Given the description of an element on the screen output the (x, y) to click on. 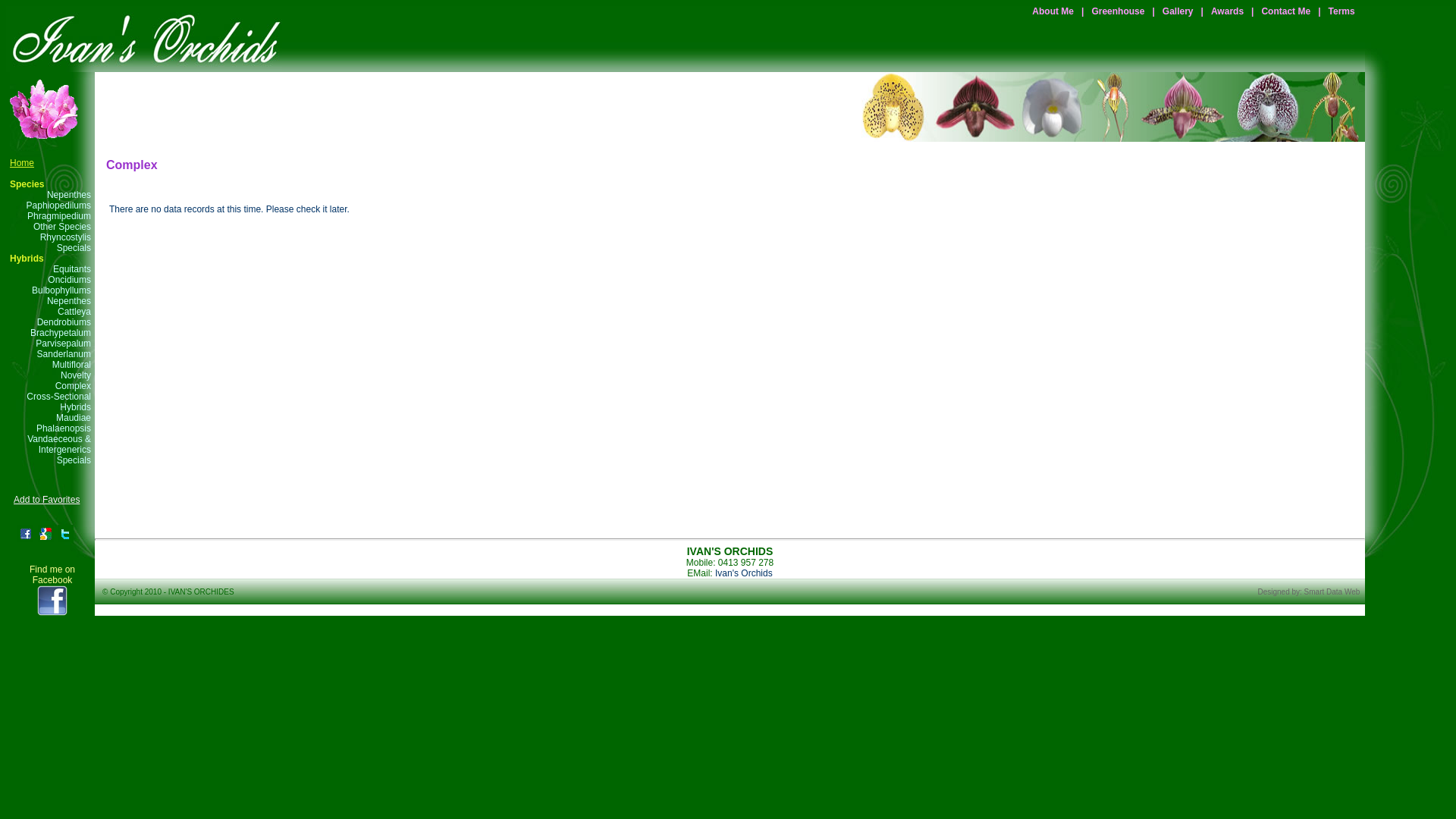
Sanderlanum Element type: text (64, 353)
Nepenthes Element type: text (69, 194)
IVAN'S ORCHIDS Element type: hover (144, 39)
Specials Element type: text (73, 460)
Home Element type: text (21, 162)
Equitants Oncidiums Element type: text (69, 274)
Send to Google Element type: hover (45, 538)
Find us on facebook Element type: hover (52, 600)
Greenhouse Element type: text (1117, 11)
Awards Element type: text (1227, 11)
Contact Me Element type: text (1285, 11)
Cross-Sectional Hybrids Element type: text (58, 401)
Novelty Element type: text (75, 375)
Dendrobiums Element type: text (64, 321)
Other Species Element type: text (62, 226)
Add to Favorites Element type: text (46, 499)
Multifloral Element type: text (71, 364)
Designed by: Smart Data Web Element type: text (1308, 591)
Gallery Element type: text (1177, 11)
Parvisepalum Element type: text (63, 343)
Send to Facebook Element type: hover (25, 533)
Maudiae Element type: text (73, 417)
Phragmipedium Element type: text (59, 215)
Brachypetalum Element type: text (60, 332)
Send to Twitter Element type: hover (65, 538)
Phalaenopsis Element type: text (63, 428)
Complex Element type: text (73, 385)
Vandaeceous & Intergenerics Element type: text (59, 444)
Send to Facebook Element type: hover (25, 538)
Follow me on facebook Element type: hover (52, 612)
Bulbophyllums Element type: text (61, 290)
Ivan's Orchids Element type: text (743, 572)
Paphiopedilums Element type: text (58, 205)
Rhyncostylis Element type: text (65, 237)
Specials Element type: text (73, 247)
About Me Element type: text (1052, 11)
Send to Google Element type: hover (45, 533)
Cattleya Element type: text (74, 311)
Nepenthes Element type: text (69, 300)
Terms Element type: text (1341, 11)
Send to Twitter Element type: hover (65, 533)
